Given the description of an element on the screen output the (x, y) to click on. 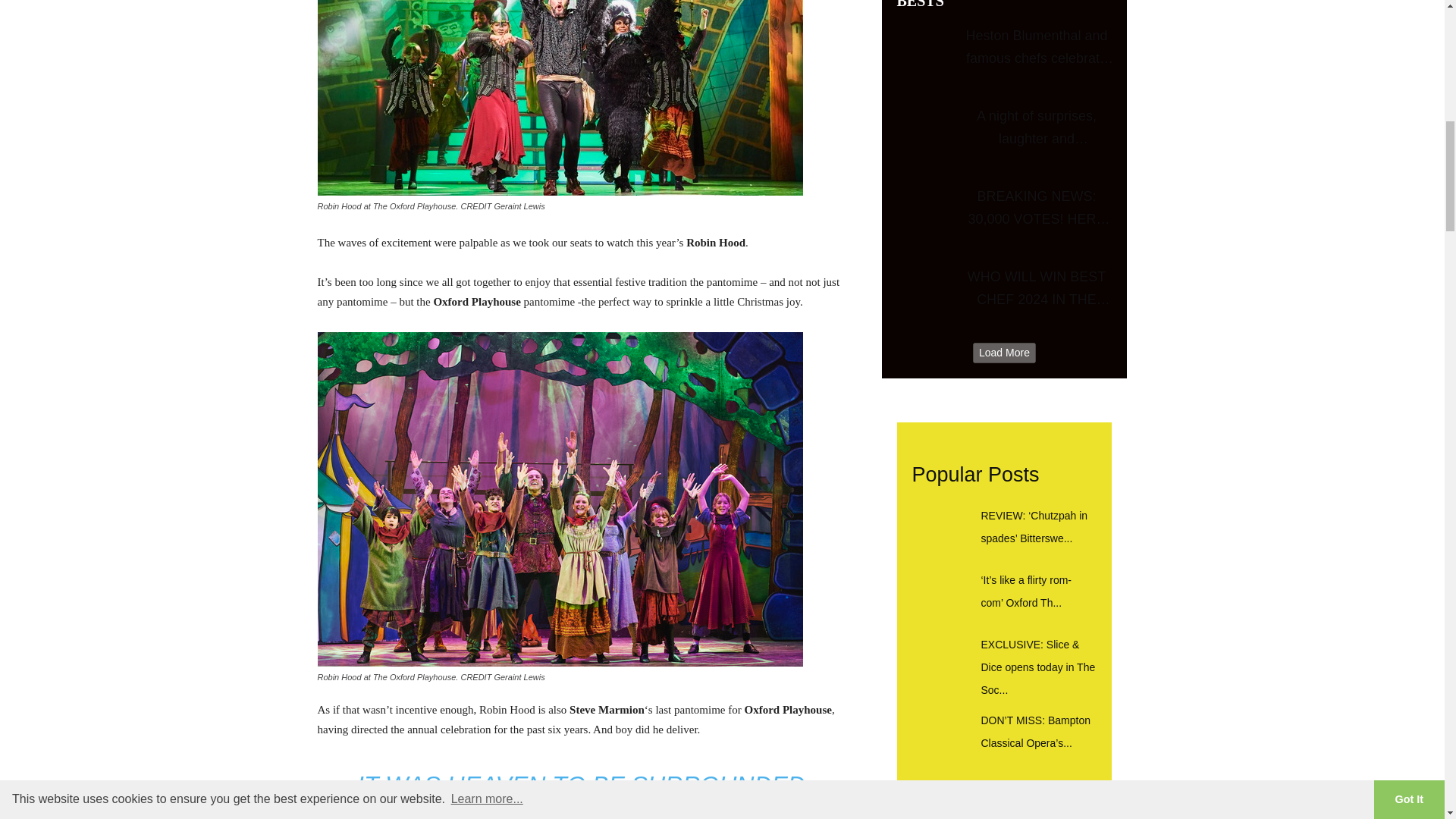
ROBIN HOOD (559, 97)
